Given the description of an element on the screen output the (x, y) to click on. 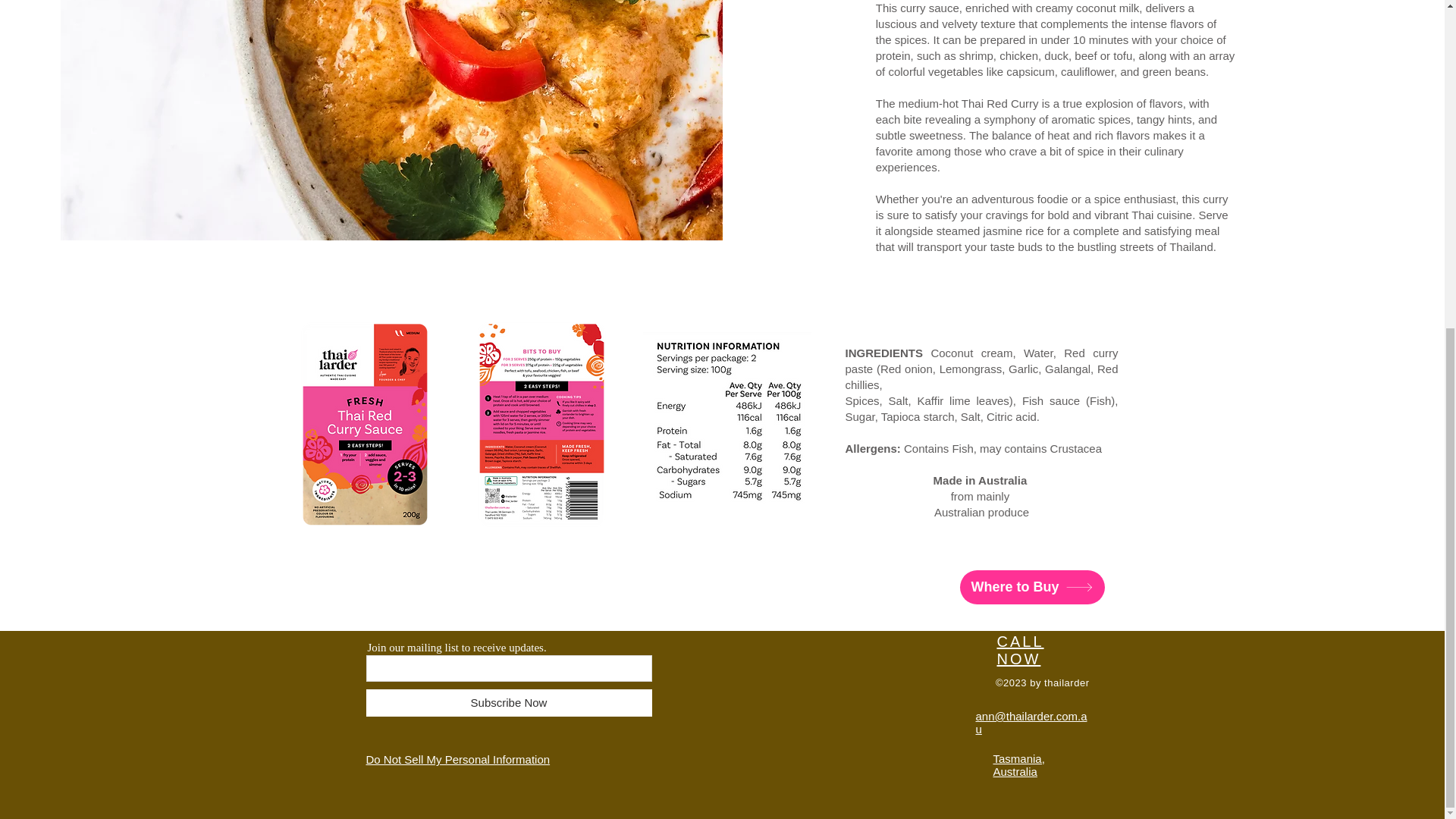
CALL NOW (1019, 650)
Do Not Sell My Personal Information (457, 759)
Subscribe Now (507, 702)
Where to Buy (1032, 587)
Tasmania, Australia (1018, 765)
